Given the description of an element on the screen output the (x, y) to click on. 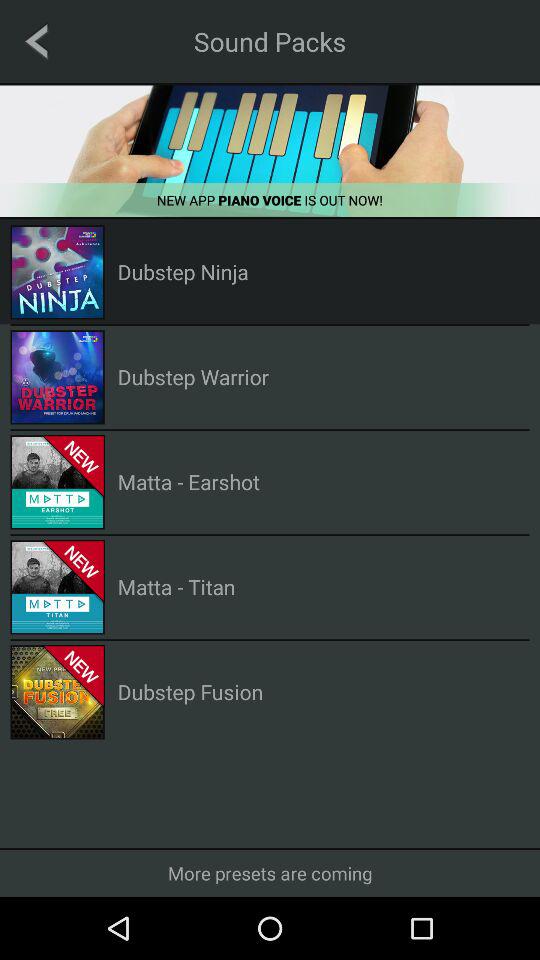
swipe to the dubstep fusion (190, 691)
